Given the description of an element on the screen output the (x, y) to click on. 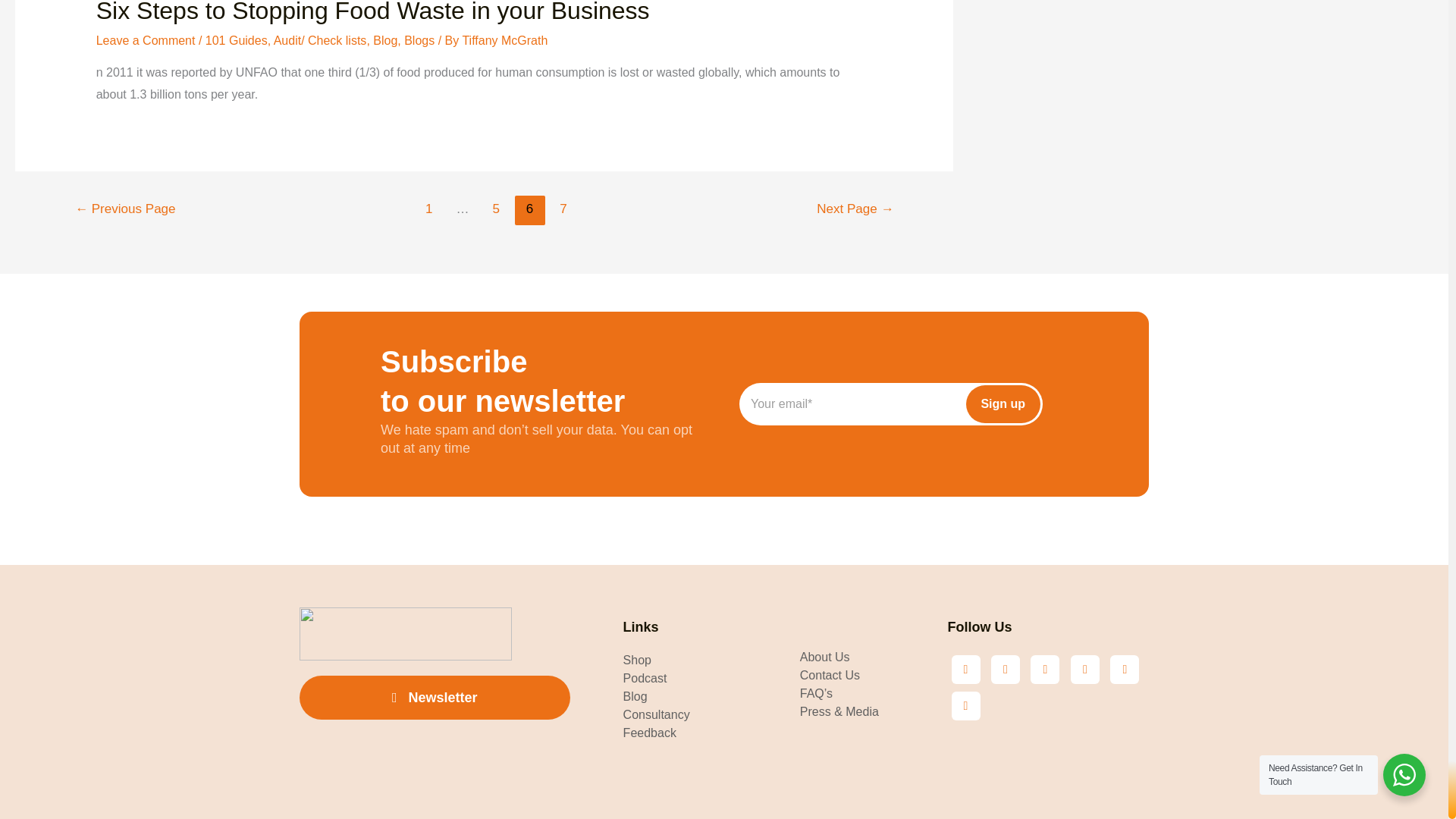
View all posts by Tiffany McGrath (504, 39)
